Given the description of an element on the screen output the (x, y) to click on. 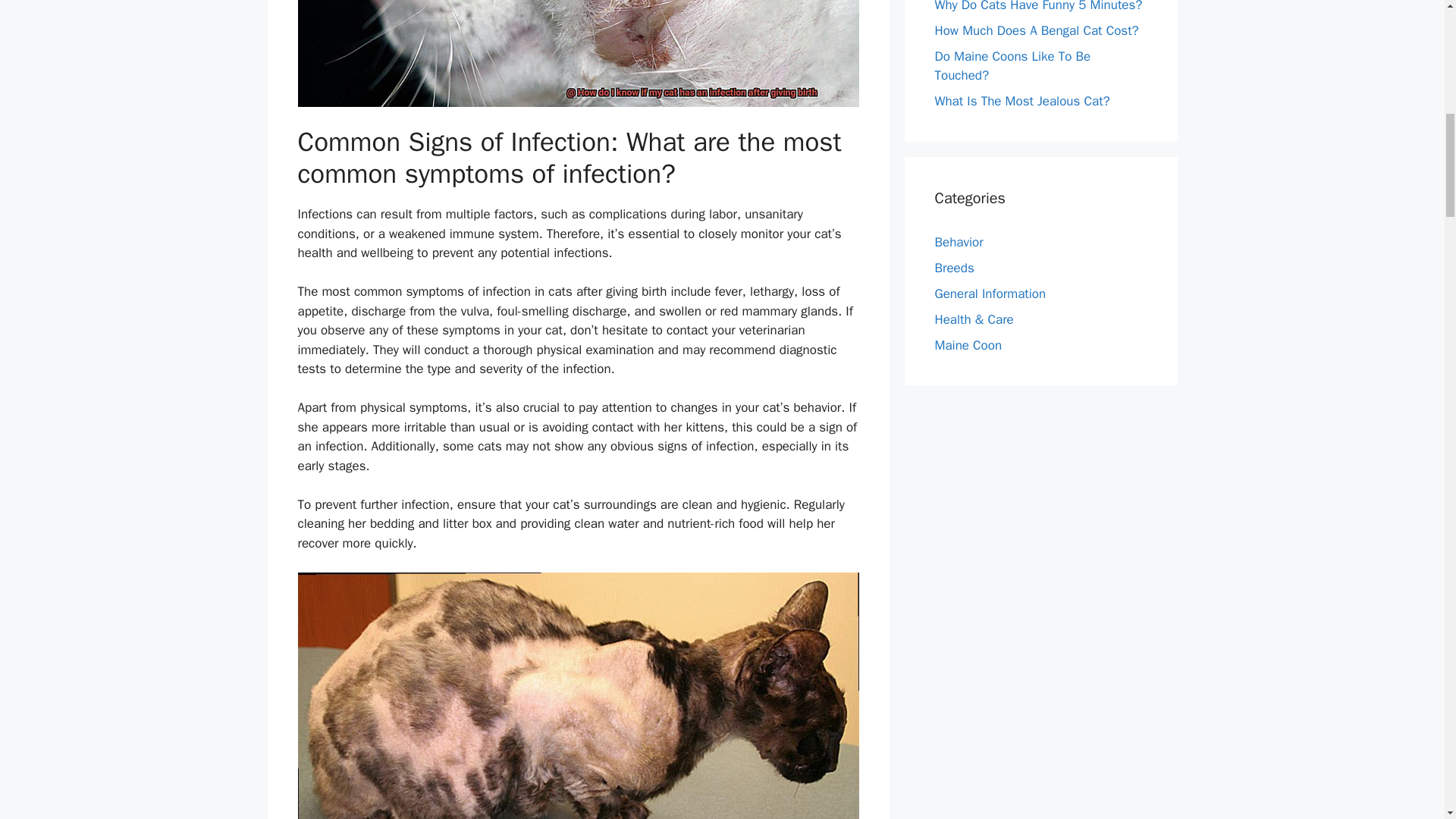
How do I know if my cat has an infection after giving birth? (578, 53)
Breeds (954, 268)
What Is The Most Jealous Cat? (1021, 100)
Do Maine Coons Like To Be Touched? (1012, 66)
General Information (989, 293)
Scroll back to top (1406, 720)
Why Do Cats Have Funny 5 Minutes? (1037, 6)
Behavior (958, 242)
How Much Does A Bengal Cat Cost? (1036, 30)
